Given the description of an element on the screen output the (x, y) to click on. 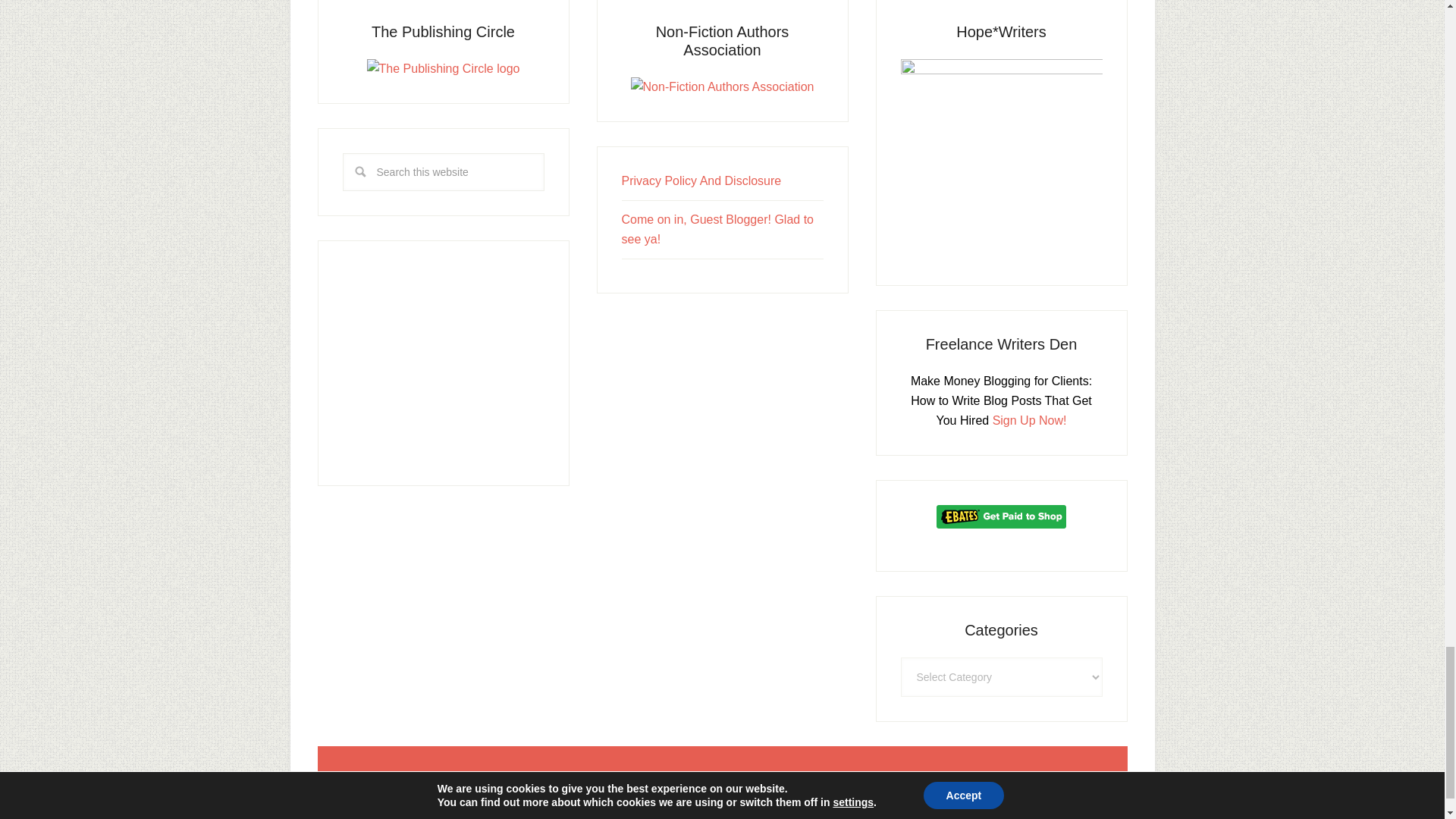
Contact (701, 180)
